Given the description of an element on the screen output the (x, y) to click on. 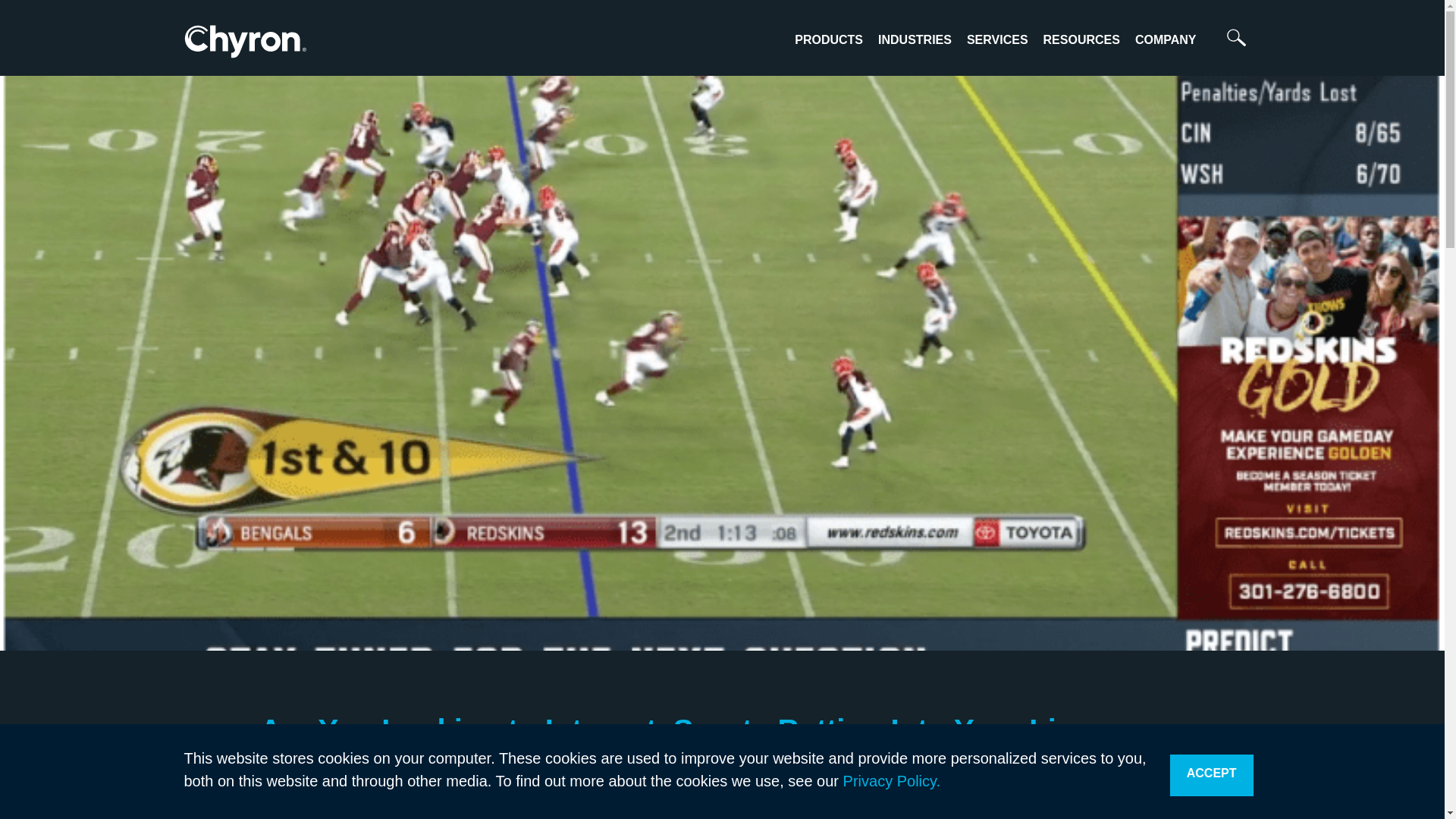
Chyron (244, 41)
SERVICES (996, 39)
Chyron (244, 44)
RESOURCES (1081, 39)
INDUSTRIES (914, 39)
PRODUCTS (828, 39)
